Given the description of an element on the screen output the (x, y) to click on. 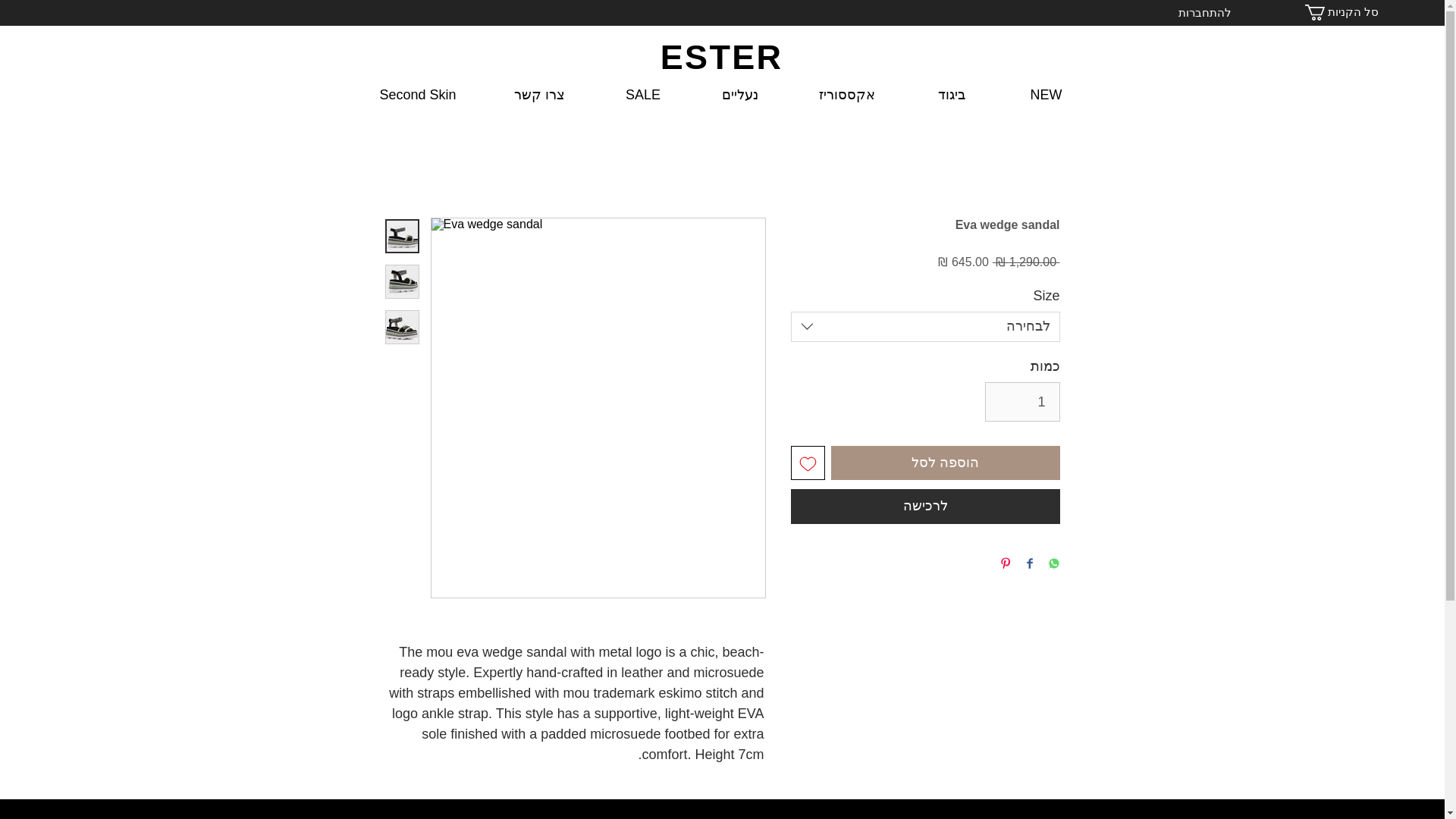
NEW (1045, 94)
ESTER (722, 56)
Second Skin (417, 94)
1 (1022, 401)
SALE (642, 94)
